Given the description of an element on the screen output the (x, y) to click on. 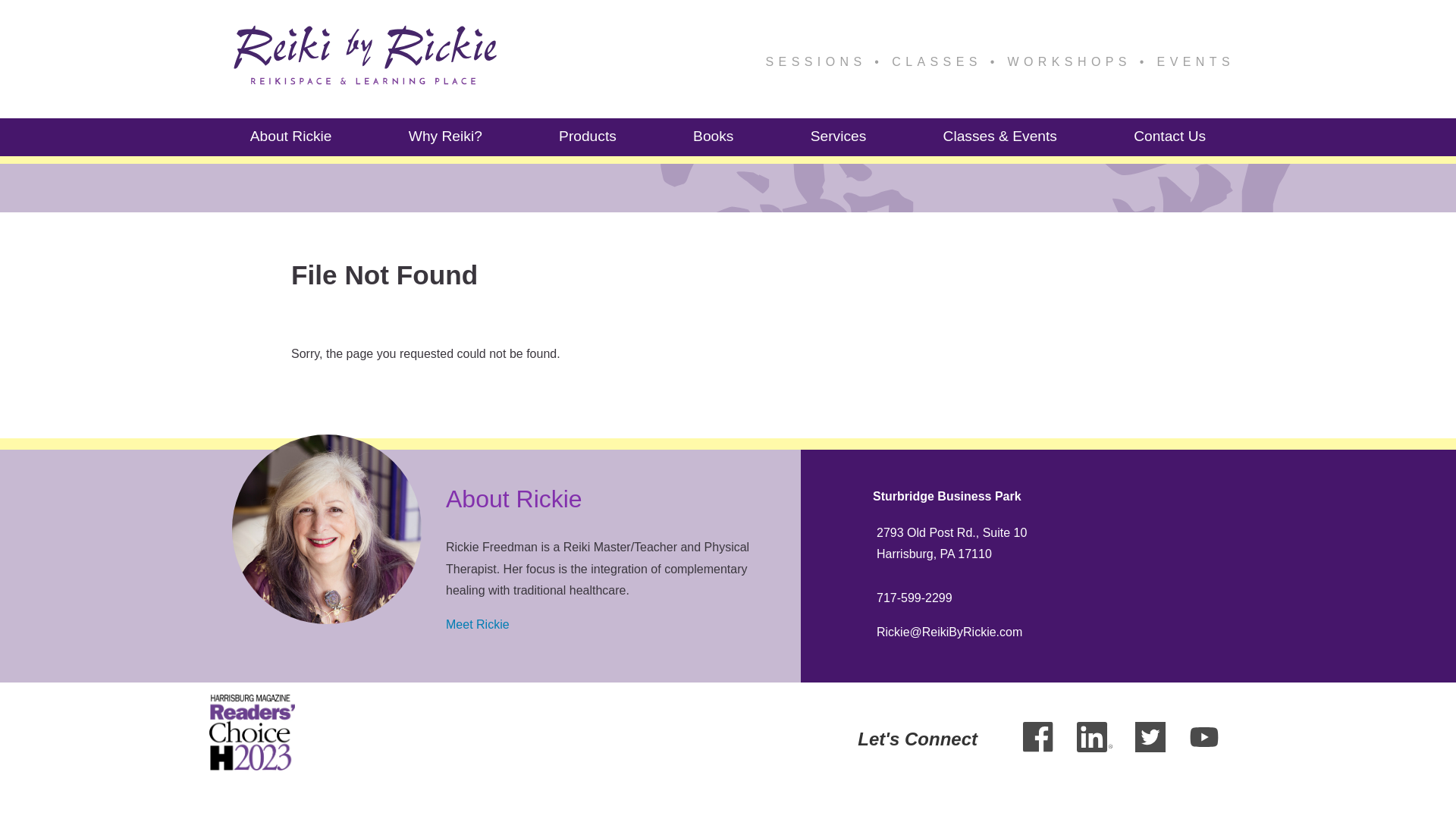
Why Reiki? (445, 136)
Contact Us (1169, 136)
About Rickie (291, 136)
Books (713, 136)
Services (838, 136)
Products (587, 136)
Meet Rickie (477, 624)
